Given the description of an element on the screen output the (x, y) to click on. 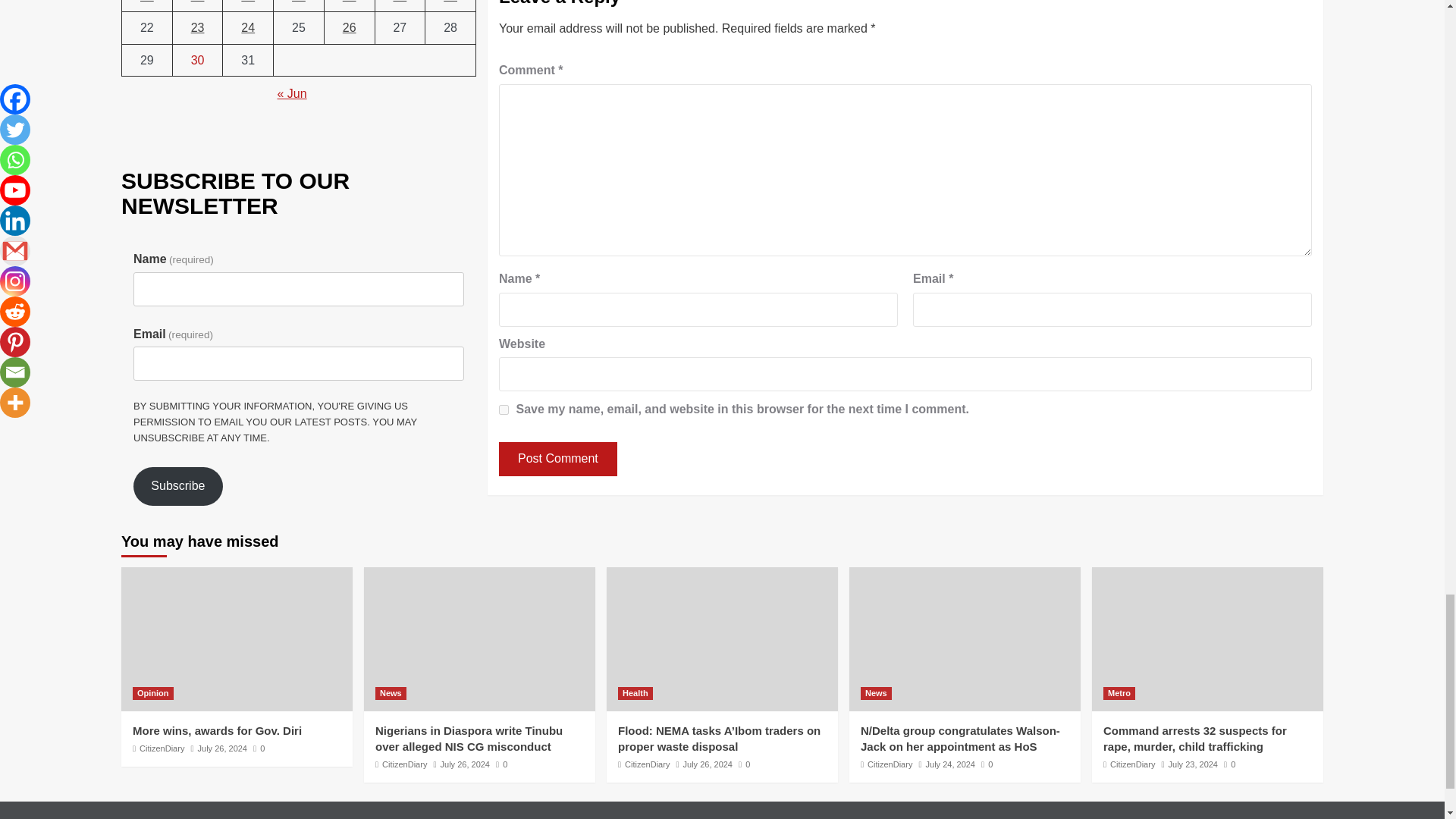
yes (503, 409)
Post Comment (558, 458)
